Given the description of an element on the screen output the (x, y) to click on. 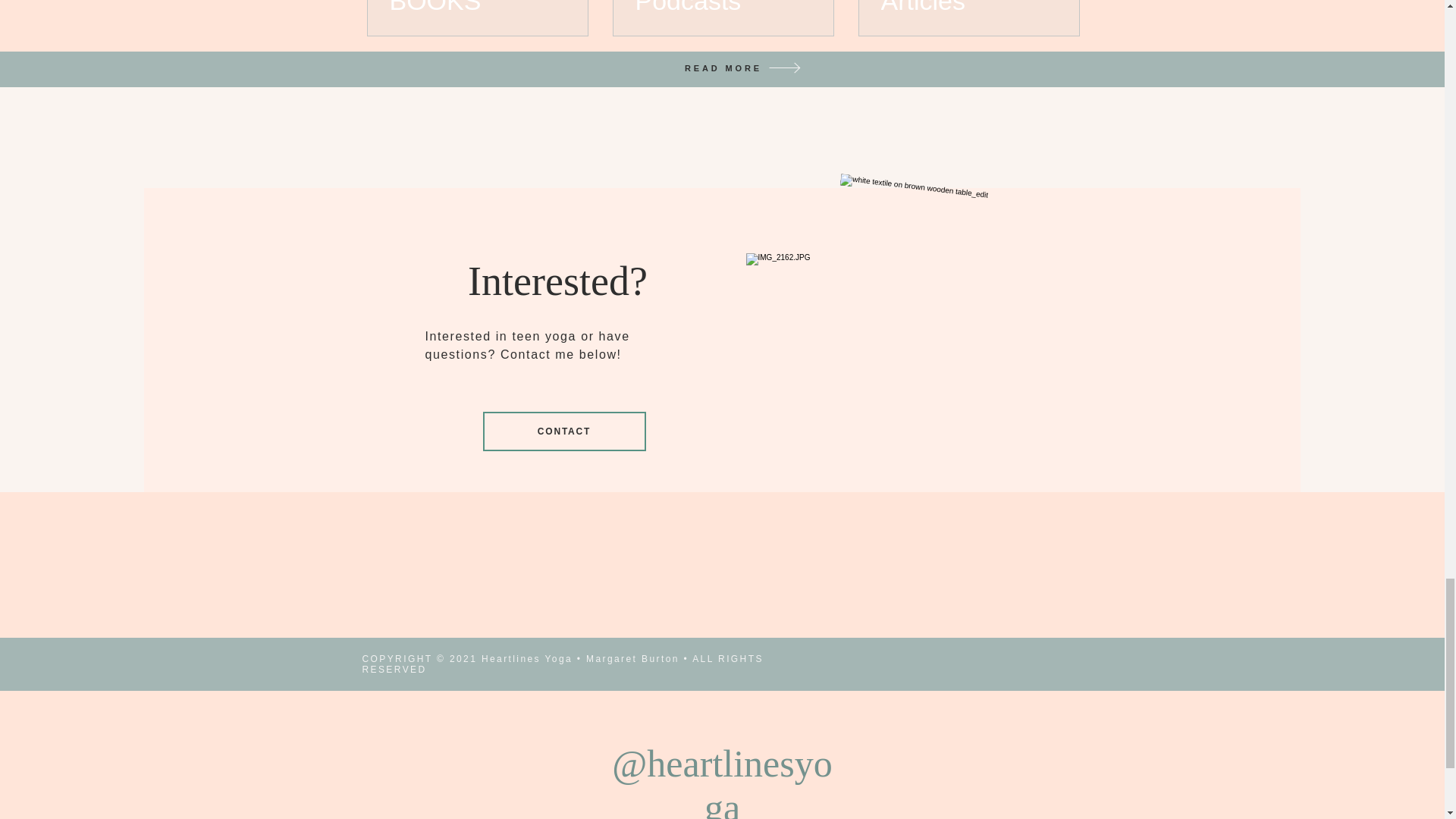
BOOKS (478, 7)
Podcasts (722, 7)
Margaret Burton (632, 658)
Articles (968, 7)
CONTACT (563, 431)
